Given the description of an element on the screen output the (x, y) to click on. 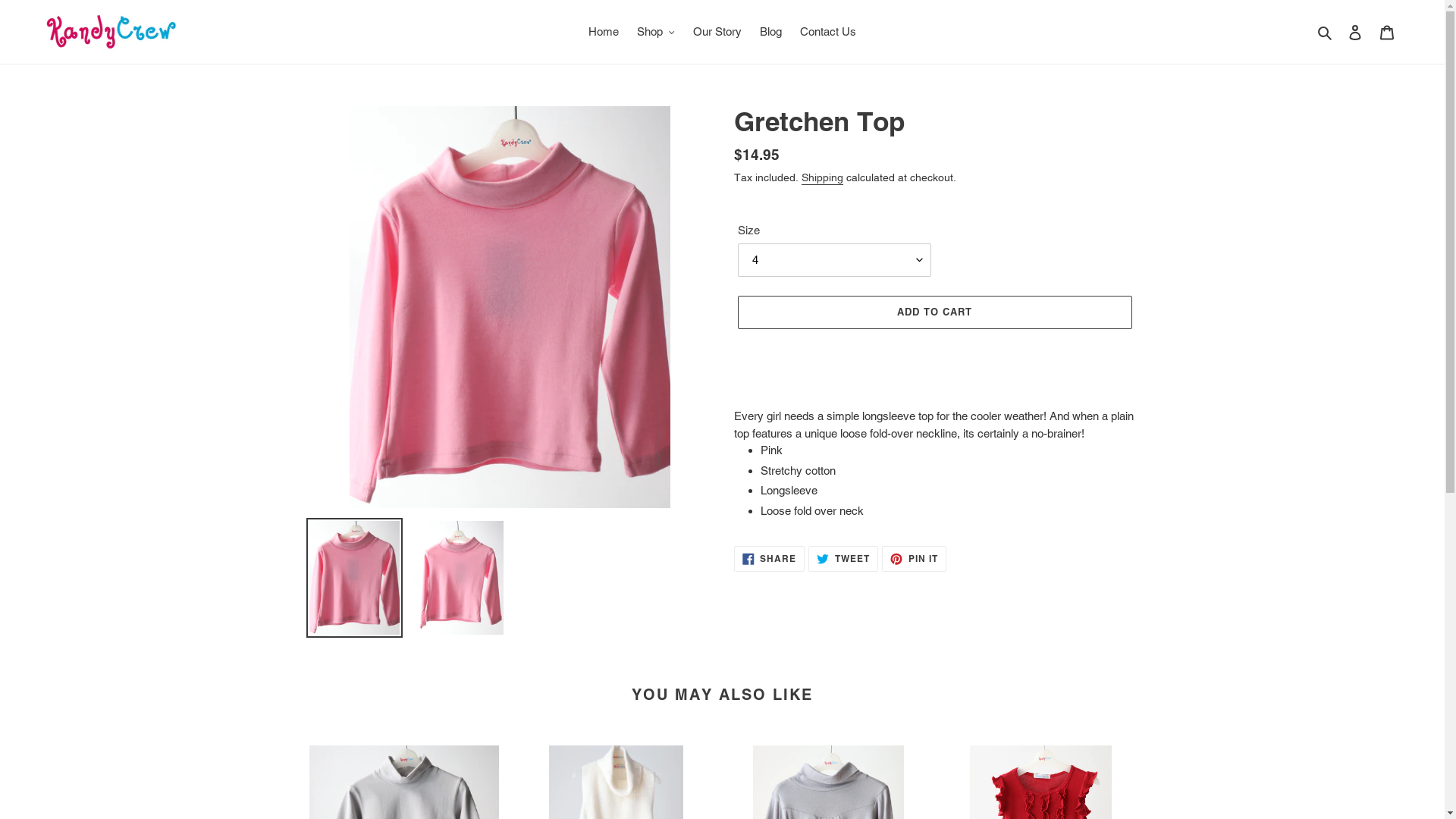
PIN IT
PIN ON PINTEREST Element type: text (913, 558)
Search Element type: text (1325, 31)
Our Story Element type: text (717, 32)
Home Element type: text (603, 32)
Shop Element type: text (655, 32)
Log in Element type: text (1355, 31)
TWEET
TWEET ON TWITTER Element type: text (843, 558)
SHARE
SHARE ON FACEBOOK Element type: text (769, 558)
Blog Element type: text (770, 32)
Shipping Element type: text (821, 178)
ADD TO CART Element type: text (934, 312)
Contact Us Element type: text (827, 32)
Cart Element type: text (1386, 31)
